Given the description of an element on the screen output the (x, y) to click on. 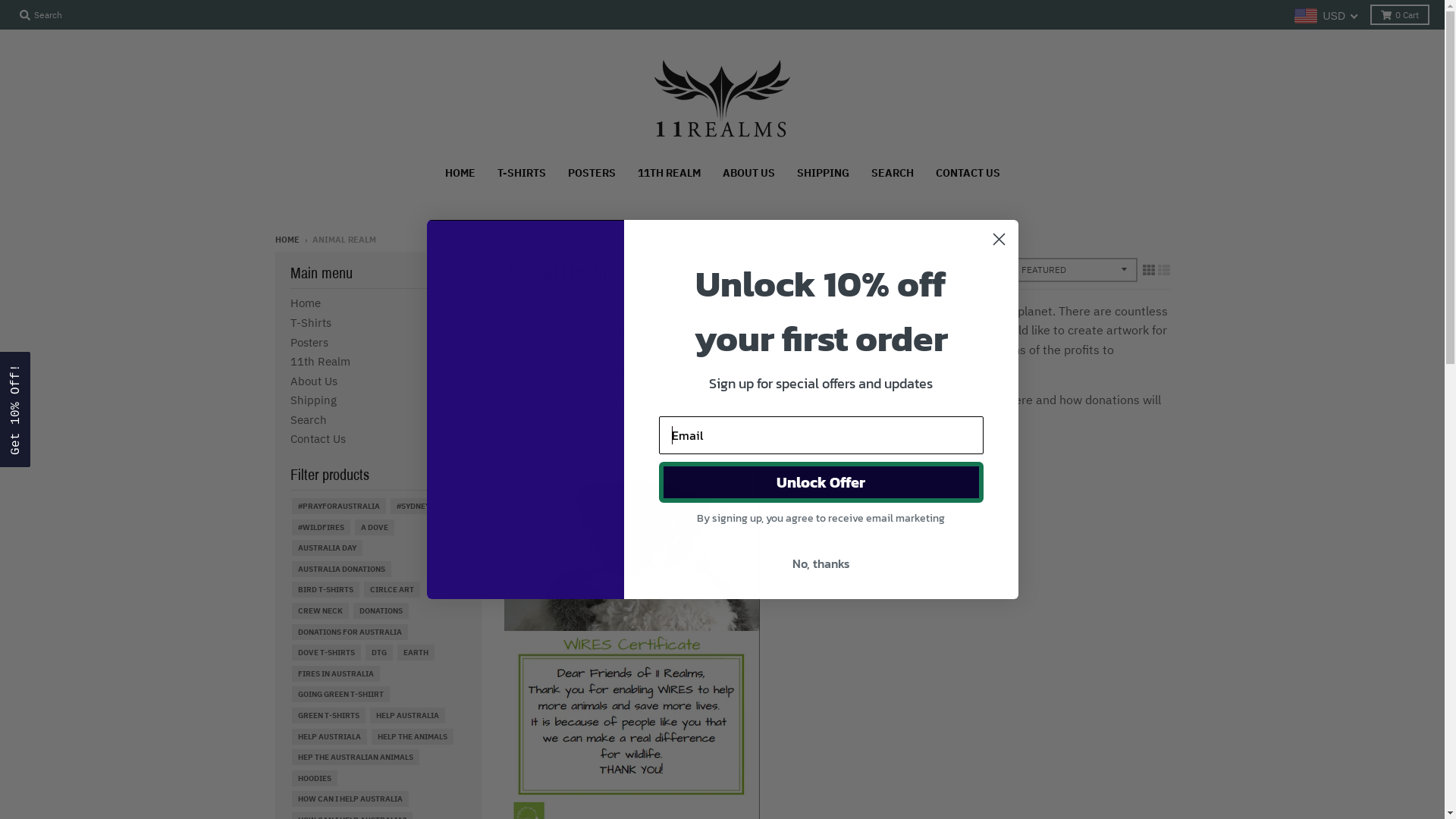
11th Realm Element type: text (319, 361)
#PRAYFORAUSTRALIA Element type: text (337, 506)
SEARCH Element type: text (892, 172)
HOME Element type: text (460, 172)
HOME Element type: text (286, 239)
T-Shirts Element type: text (309, 322)
List view Element type: hover (1163, 269)
11TH REALM Element type: text (668, 172)
About Us Element type: text (312, 380)
BIRD T-SHIRTS Element type: text (324, 589)
HELP AUSTRALIA Element type: text (407, 715)
POSTERS Element type: text (591, 172)
HOW CAN I HELP AUSTRALIA Element type: text (349, 798)
DONATIONS Element type: text (380, 610)
0 Cart Element type: text (1399, 14)
Search Element type: text (307, 419)
A DOVE Element type: text (374, 527)
HOODIES Element type: text (313, 778)
FIRES IN AUSTRALIA Element type: text (334, 673)
Shipping Element type: text (312, 399)
CREW NECK Element type: text (319, 610)
Contact Us Element type: text (317, 438)
HELP AUSTRIALA Element type: text (328, 736)
DONATIONS FOR AUSTRALIA Element type: text (348, 632)
GOING GREEN T-SHIIRT Element type: text (339, 694)
HEP THE AUSTRALIAN ANIMALS Element type: text (354, 757)
SHIPPING Element type: text (823, 172)
AUSTRALIA DAY Element type: text (326, 547)
EARTH Element type: text (415, 652)
#SYDNEY Element type: text (412, 506)
#WILDFIRES Element type: text (320, 527)
DOVE T-SHIRTS Element type: text (325, 652)
HELP THE ANIMALS Element type: text (412, 736)
CONTACT US Element type: text (967, 172)
ABOUT US Element type: text (748, 172)
DTG Element type: text (379, 652)
Grid view Element type: hover (1148, 269)
T-SHIRTS Element type: text (520, 172)
CIRLCE ART Element type: text (391, 589)
AUSTRALIA DONATIONS Element type: text (340, 569)
Posters Element type: text (308, 342)
Search Element type: text (40, 14)
Home Element type: text (304, 302)
GREEN T-SHIRTS Element type: text (327, 715)
